Given the description of an element on the screen output the (x, y) to click on. 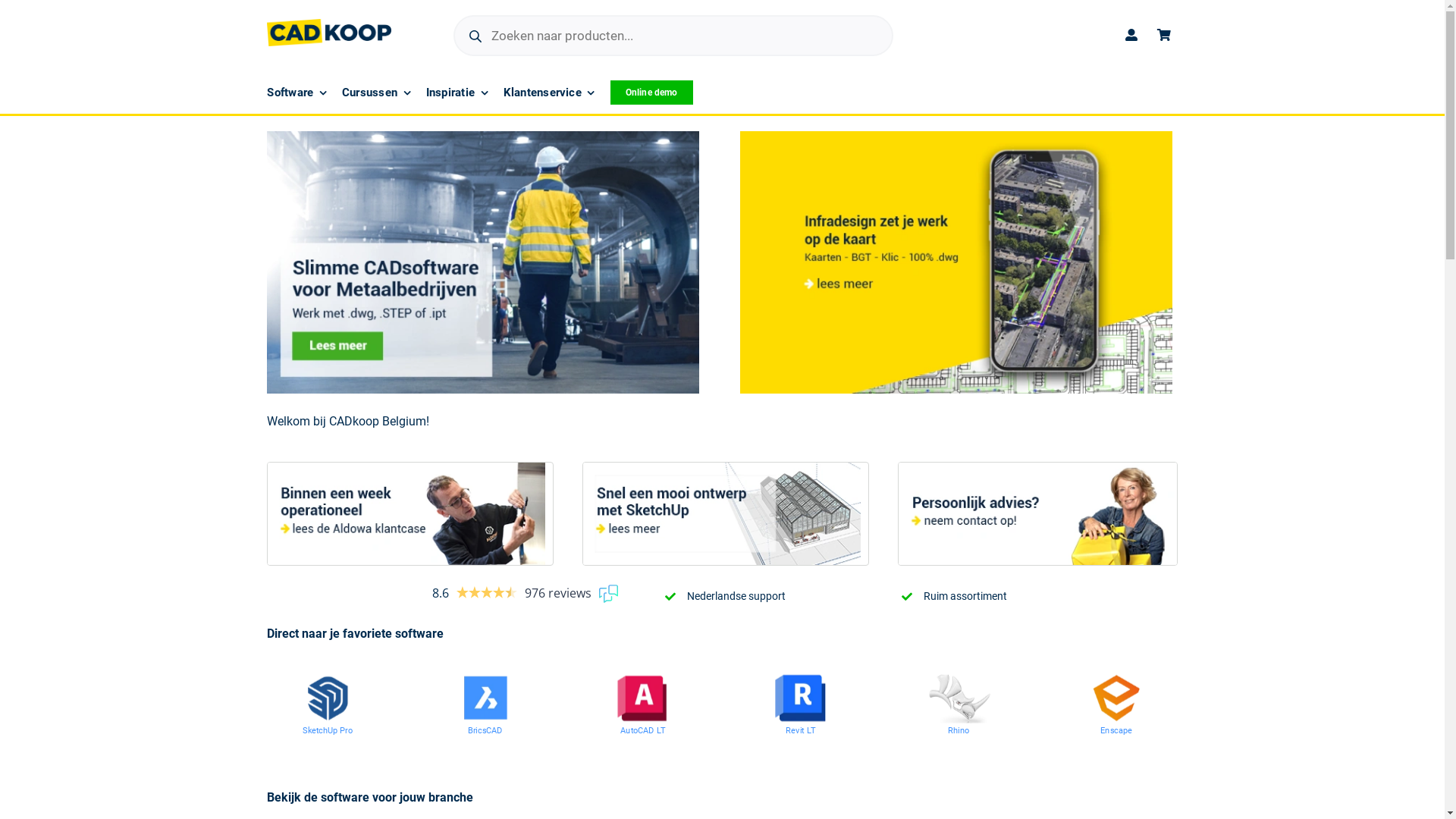
blok laag b Element type: hover (721, 513)
Online demo Element type: text (651, 92)
Enscape Element type: text (1123, 731)
8.6
976 reviews Element type: text (524, 593)
Rhino Element type: text (963, 731)
Revit LT Element type: text (807, 731)
blok laag a Element type: hover (406, 513)
Cursussen Element type: text (376, 92)
Inspiratie Element type: text (457, 92)
AutoCAD LT Element type: text (653, 731)
Software Element type: text (296, 92)
blok product a Element type: hover (956, 262)
BricsCAD Element type: text (492, 731)
Klantenservice Element type: text (549, 92)
Inloggen Element type: text (1094, 200)
blok laag c Element type: hover (1037, 513)
blok marketing geel jack Element type: hover (482, 262)
SketchUp Pro Element type: text (338, 731)
